Given the description of an element on the screen output the (x, y) to click on. 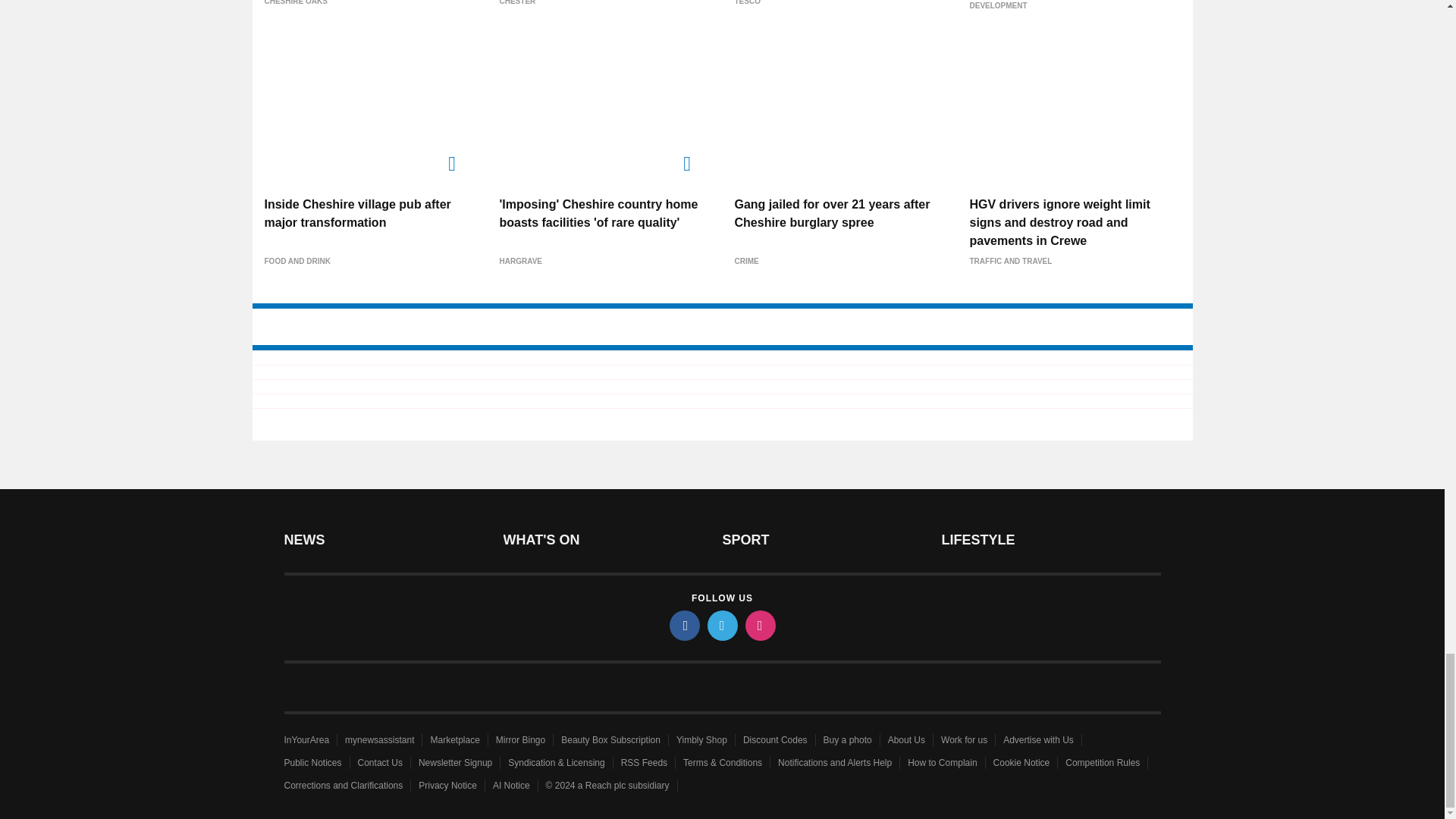
facebook (683, 625)
instagram (759, 625)
twitter (721, 625)
